Given the description of an element on the screen output the (x, y) to click on. 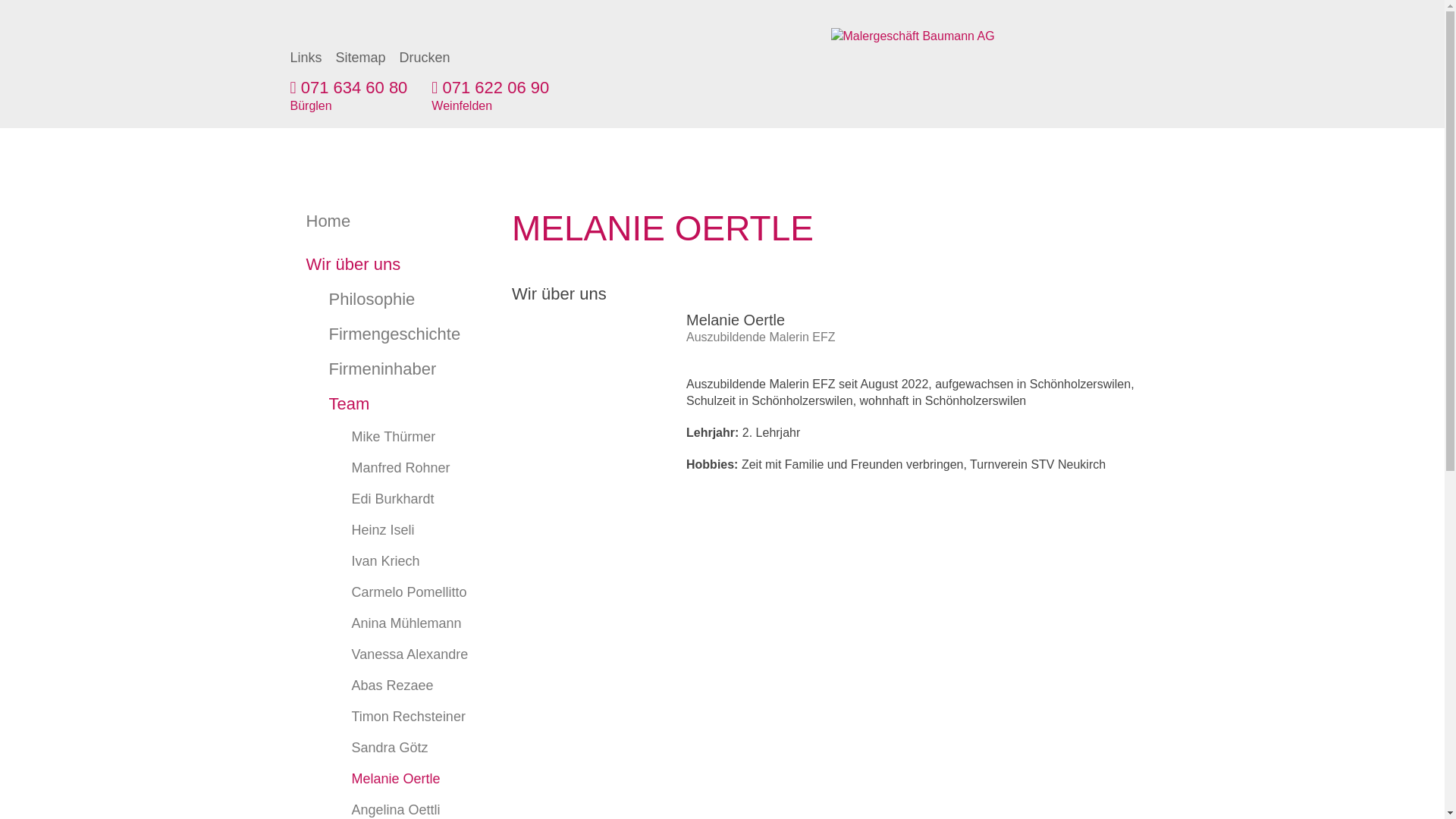
Philosophie Element type: text (383, 299)
071 622 06 90
Weinfelden Element type: text (490, 96)
Heinz Iseli Element type: text (383, 530)
Home Element type: text (383, 220)
Links Element type: text (305, 57)
Manfred Rohner Element type: text (383, 467)
Timon Rechsteiner Element type: text (383, 716)
Vanessa Alexandre Element type: text (383, 654)
Melanie Oertle Element type: text (383, 778)
Ivan Kriech Element type: text (383, 561)
Sitemap Element type: text (360, 57)
Abas Rezaee Element type: text (383, 685)
Firmeninhaber Element type: text (383, 368)
Team Element type: text (383, 403)
Edi Burkhardt Element type: text (383, 498)
Carmelo Pomellitto Element type: text (383, 592)
Firmengeschichte Element type: text (383, 333)
Drucken Element type: text (424, 57)
